Given the description of an element on the screen output the (x, y) to click on. 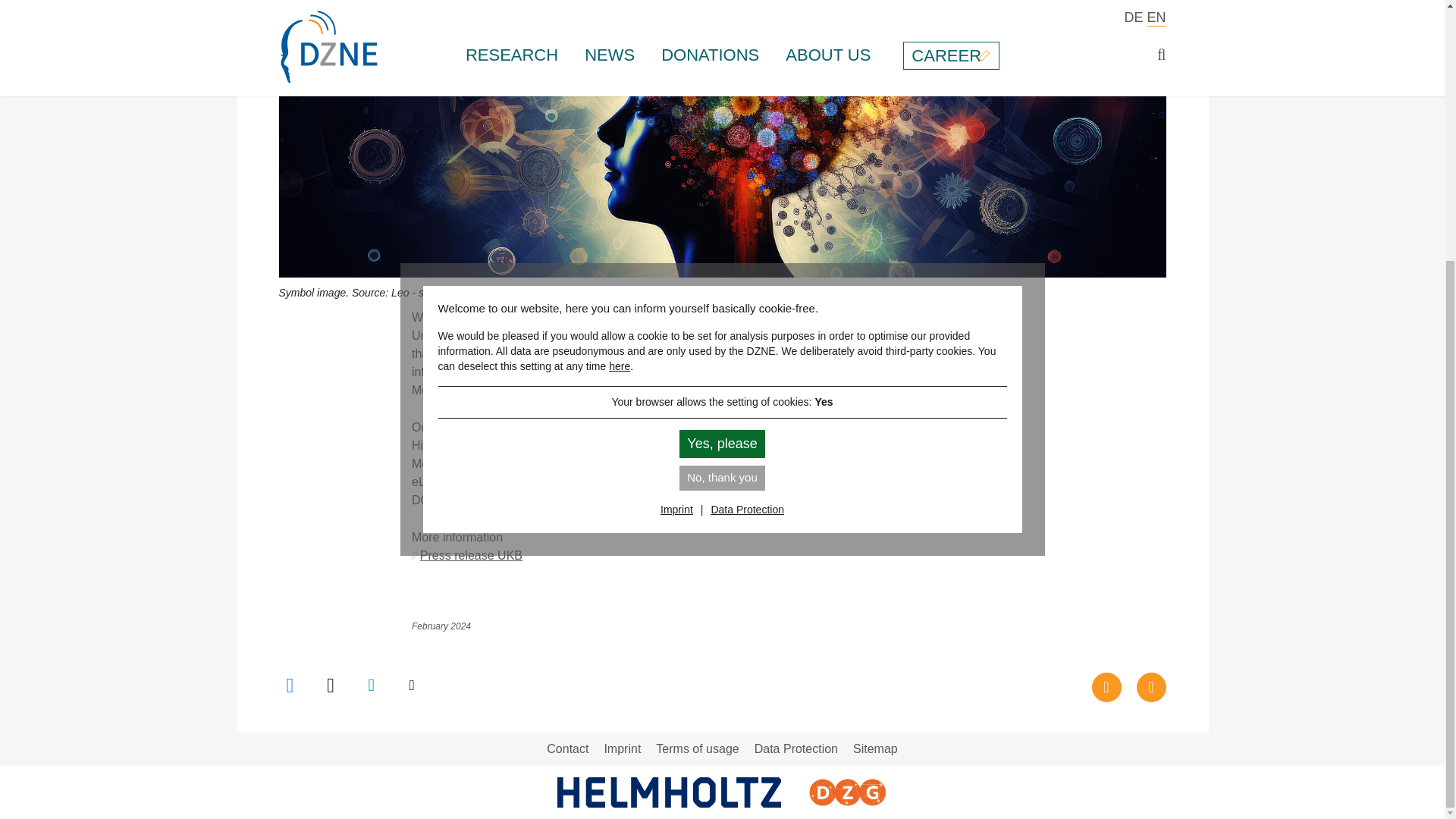
Bei Twitter teilen (332, 685)
In die Zwischenablage kopieren (413, 685)
Bei LinkedIn teilen (373, 685)
Bei Facebook teilen (292, 685)
